Given the description of an element on the screen output the (x, y) to click on. 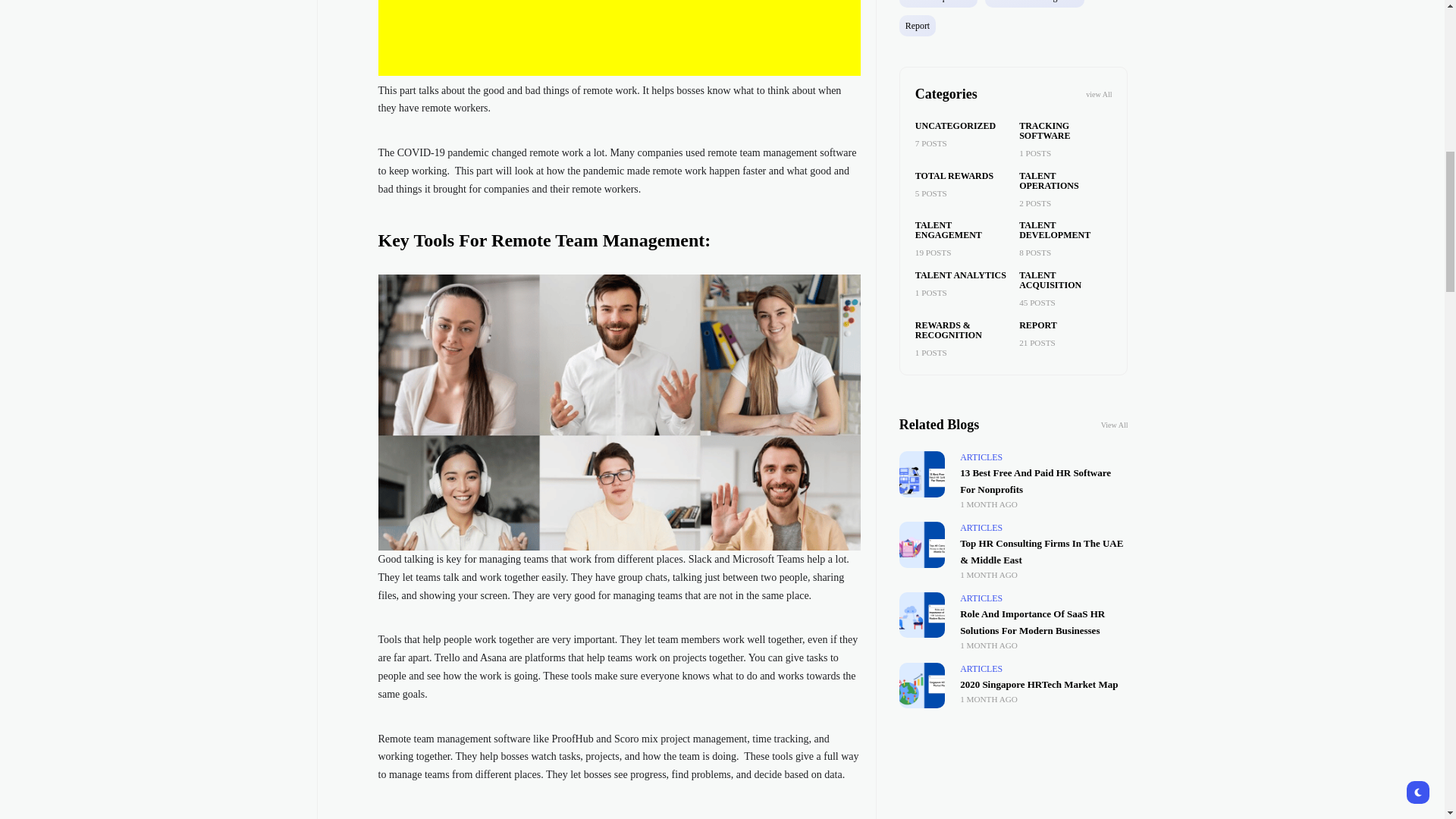
Advertisement (708, 38)
